Given the description of an element on the screen output the (x, y) to click on. 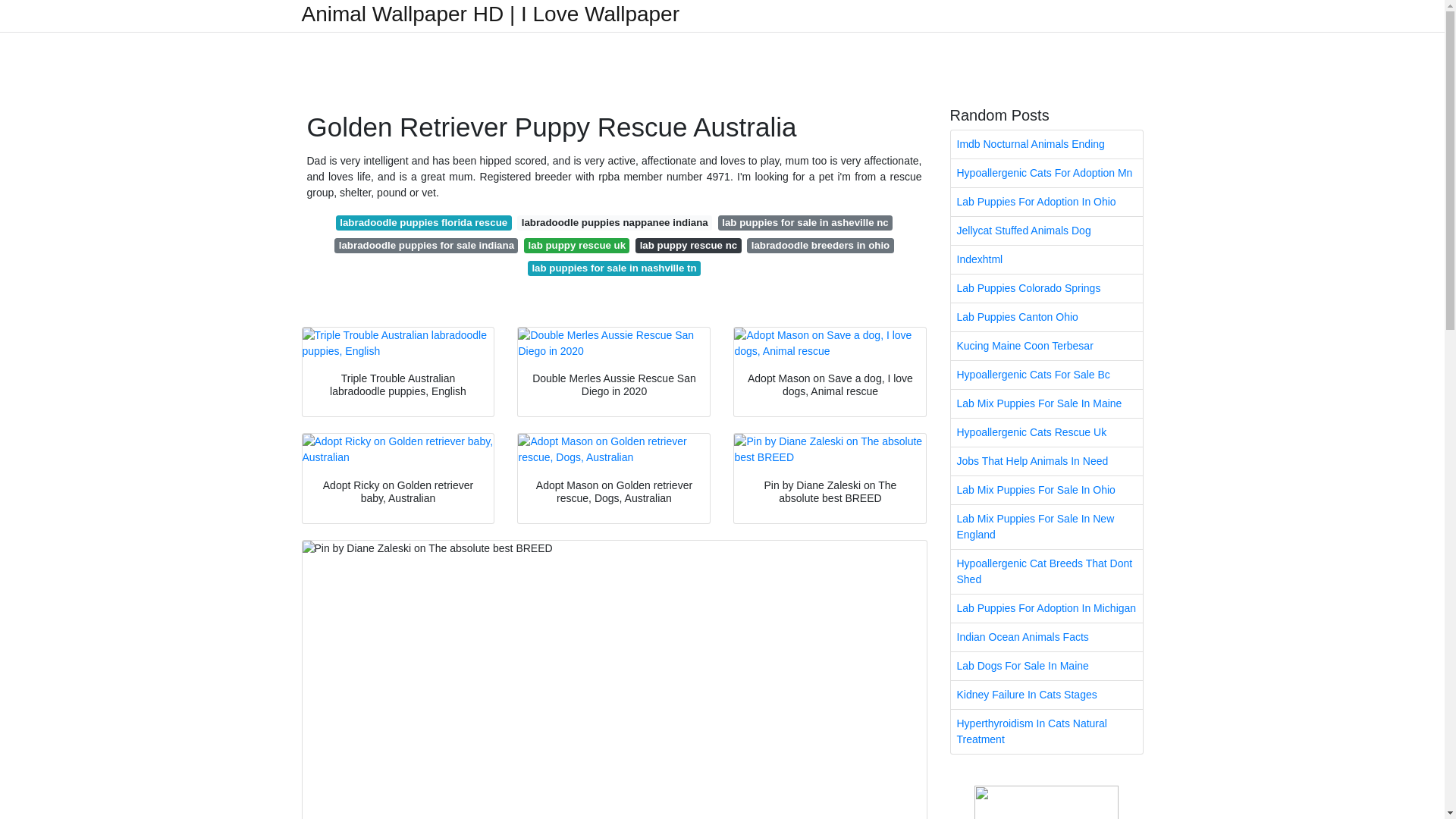
Lab Puppies Colorado Springs (1046, 288)
lab puppies for sale in nashville tn (613, 268)
labradoodle puppies for sale indiana (426, 245)
lab puppy rescue uk (576, 245)
labradoodle puppies florida rescue (424, 222)
Hypoallergenic Cats For Sale Bc (1046, 375)
Imdb Nocturnal Animals Ending (1046, 144)
Jellycat Stuffed Animals Dog (1046, 230)
Lab Mix Puppies For Sale In Maine (1046, 403)
lab puppies for sale in asheville nc (804, 222)
